Given the description of an element on the screen output the (x, y) to click on. 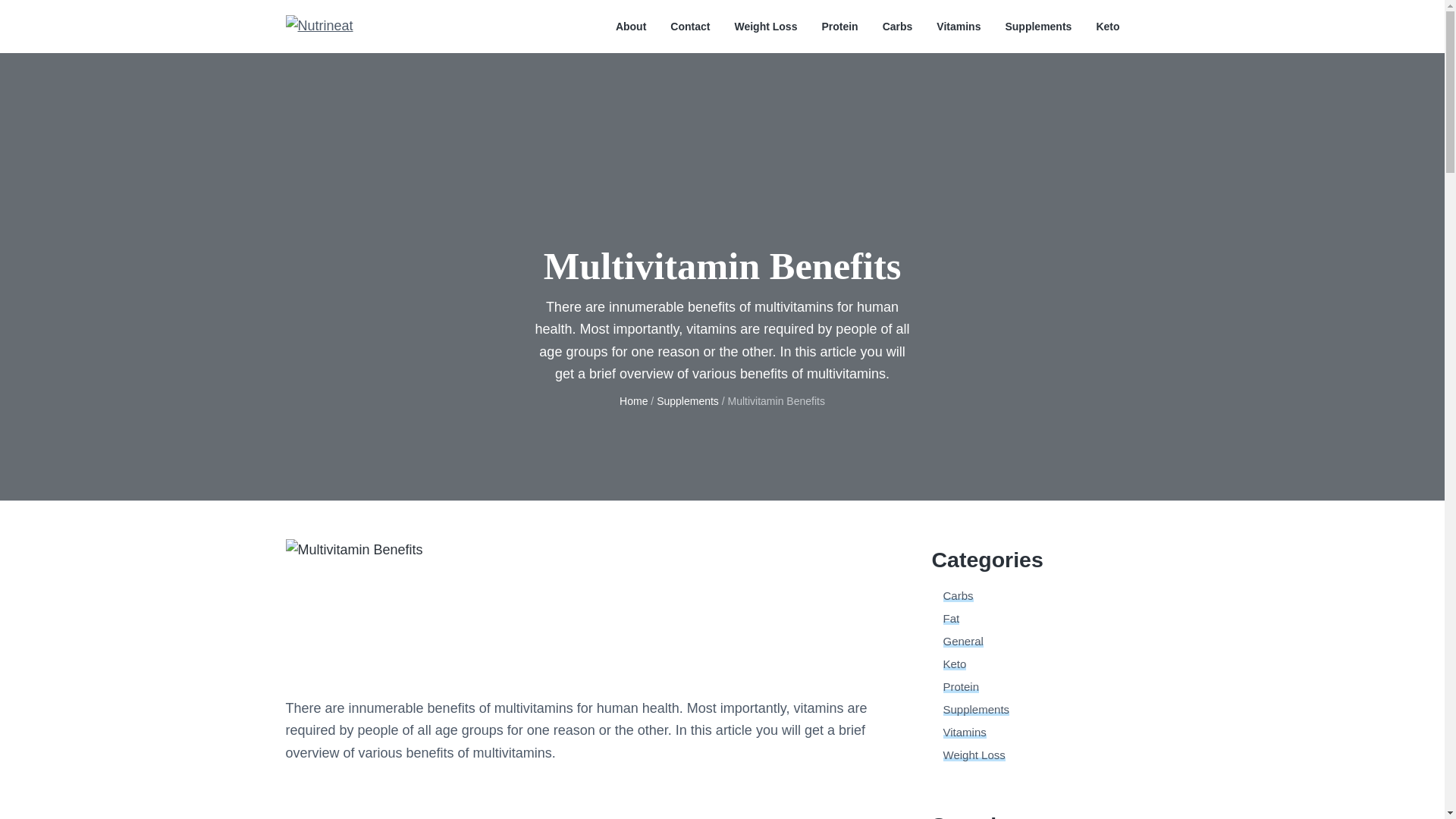
General (963, 640)
Vitamins (965, 731)
Keto (954, 663)
About (630, 27)
Vitamins (957, 27)
Supplements (1037, 27)
Keto (1107, 27)
Protein (961, 686)
Weight Loss (974, 754)
Home (633, 400)
Weight Loss (764, 27)
Protein (839, 27)
Contact (689, 27)
Search (60, 18)
Supplements (976, 708)
